Given the description of an element on the screen output the (x, y) to click on. 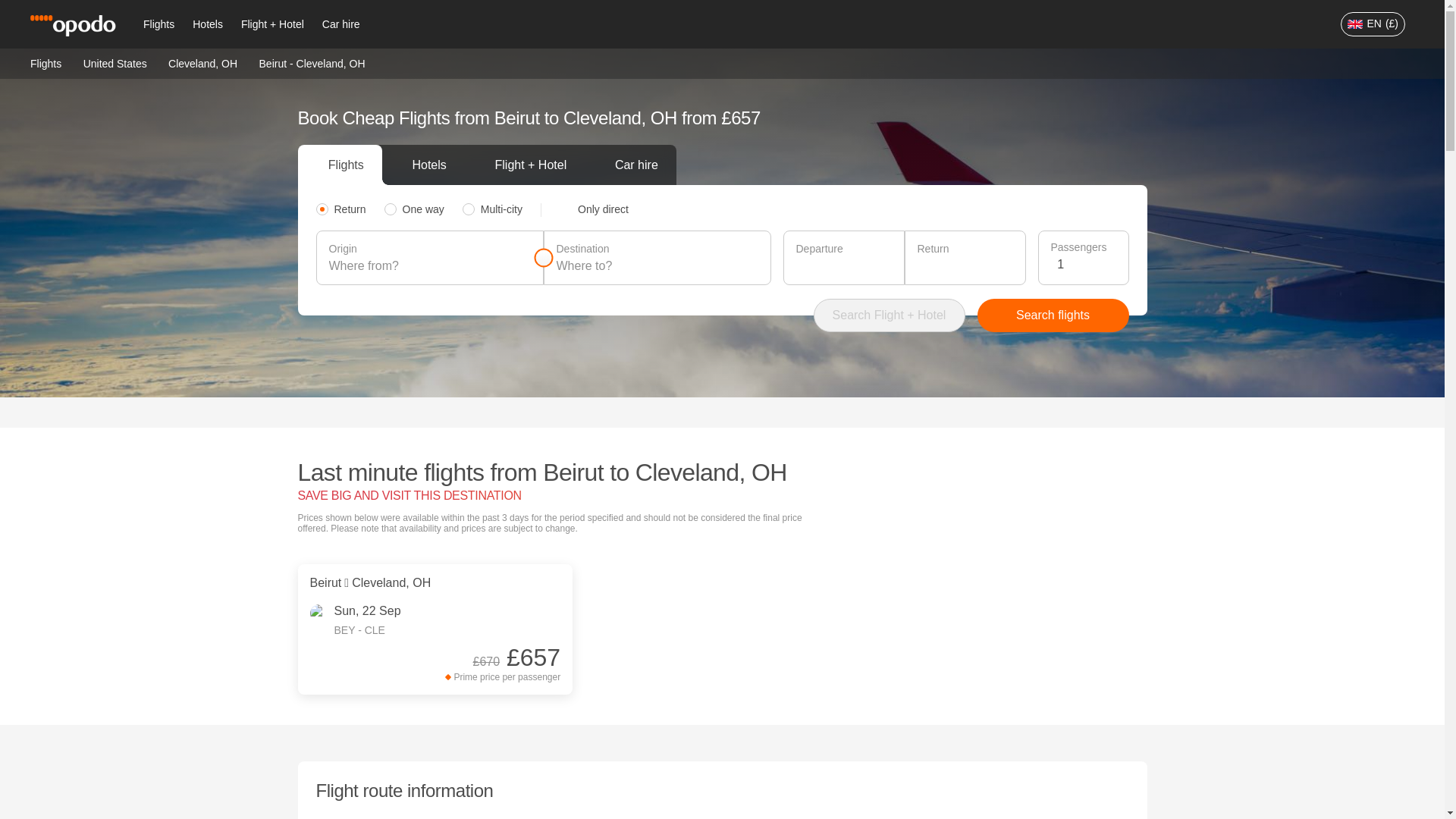
Car hire (341, 24)
Hotels (207, 24)
Flights (158, 24)
Search flights (1052, 315)
Flights (45, 62)
1 (1086, 263)
Cleveland, OH (202, 62)
United States (114, 62)
Beirut - Cleveland, OH (312, 63)
